Given the description of an element on the screen output the (x, y) to click on. 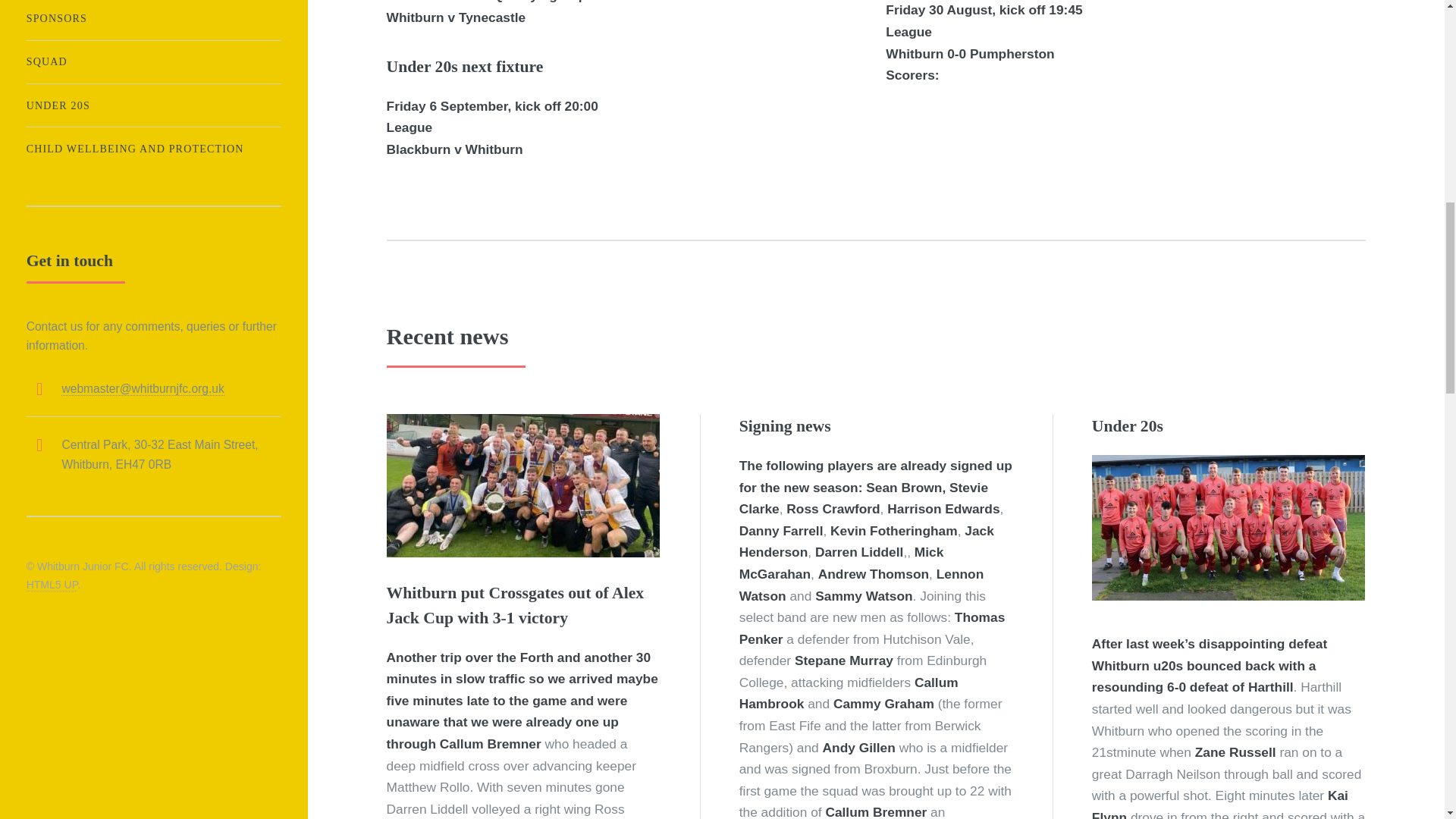
UNDER 20S (153, 105)
SPONSORS (153, 18)
HTML5 UP (52, 584)
CHILD WELLBEING AND PROTECTION (153, 148)
SQUAD (153, 61)
